Given the description of an element on the screen output the (x, y) to click on. 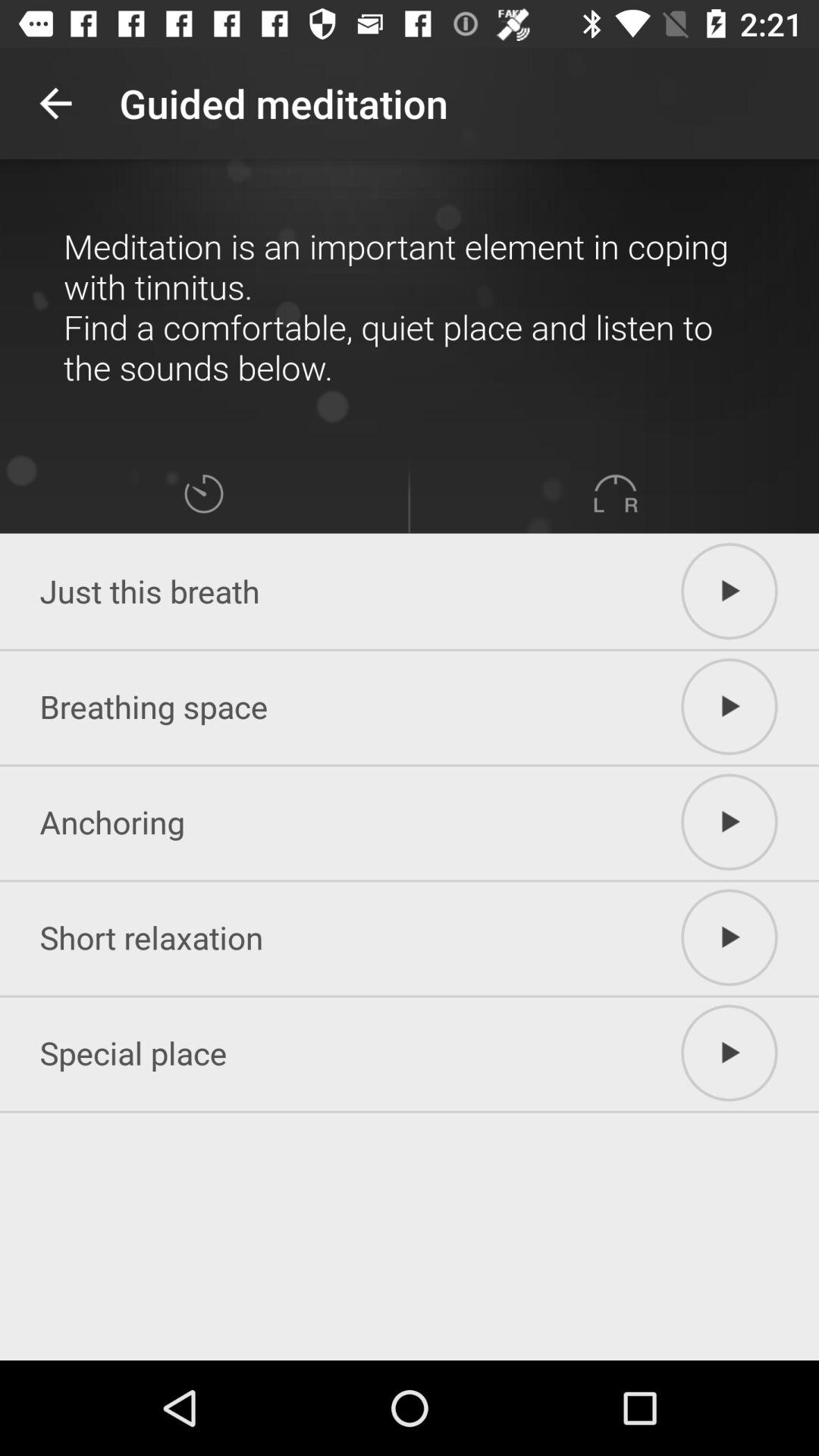
tap the item to the left of the guided meditation item (55, 103)
